Given the description of an element on the screen output the (x, y) to click on. 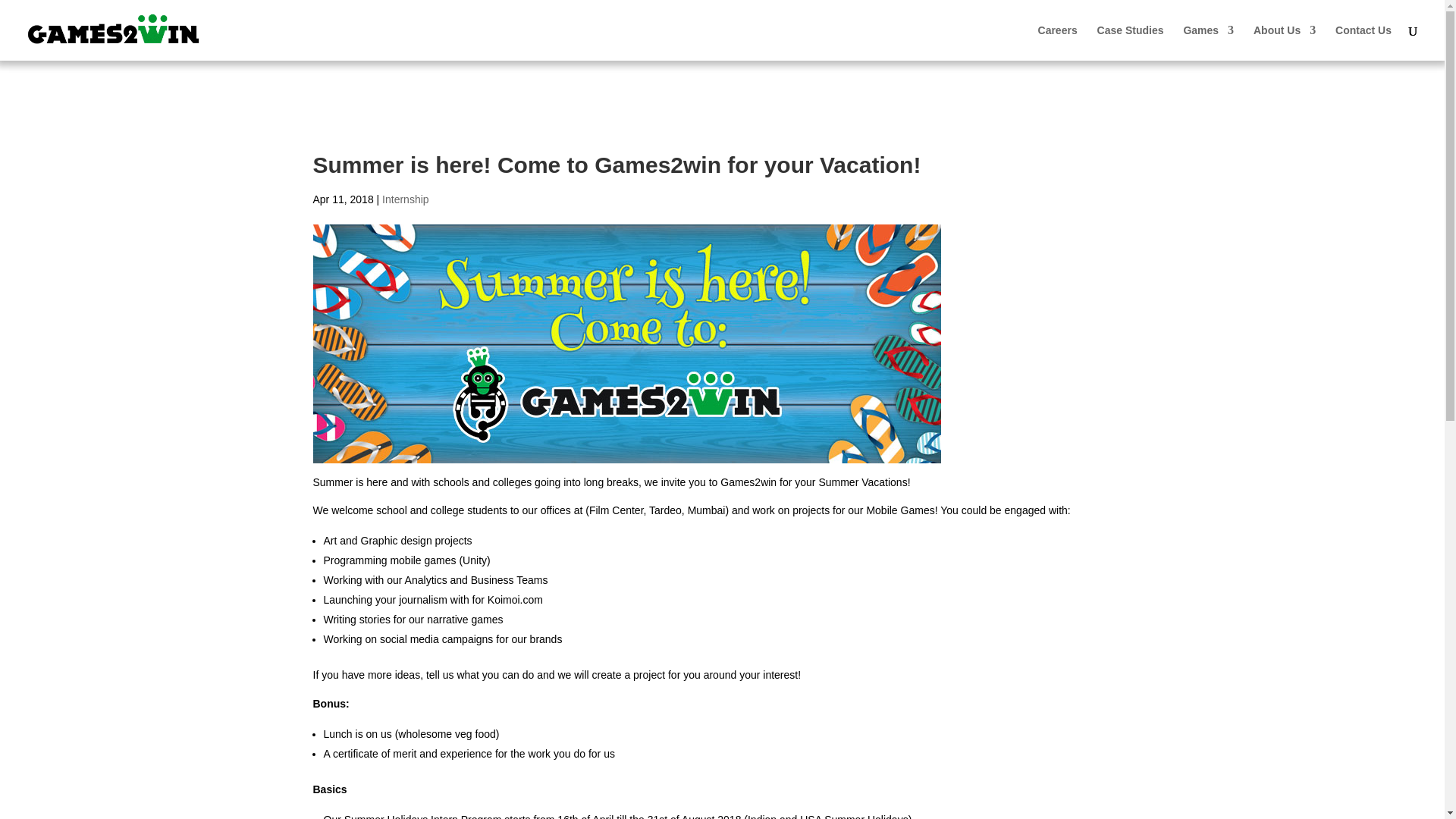
Games (1207, 42)
Internship (404, 199)
Contact Us (1363, 42)
Careers (1057, 42)
About Us (1284, 42)
Case Studies (1130, 42)
